Given the description of an element on the screen output the (x, y) to click on. 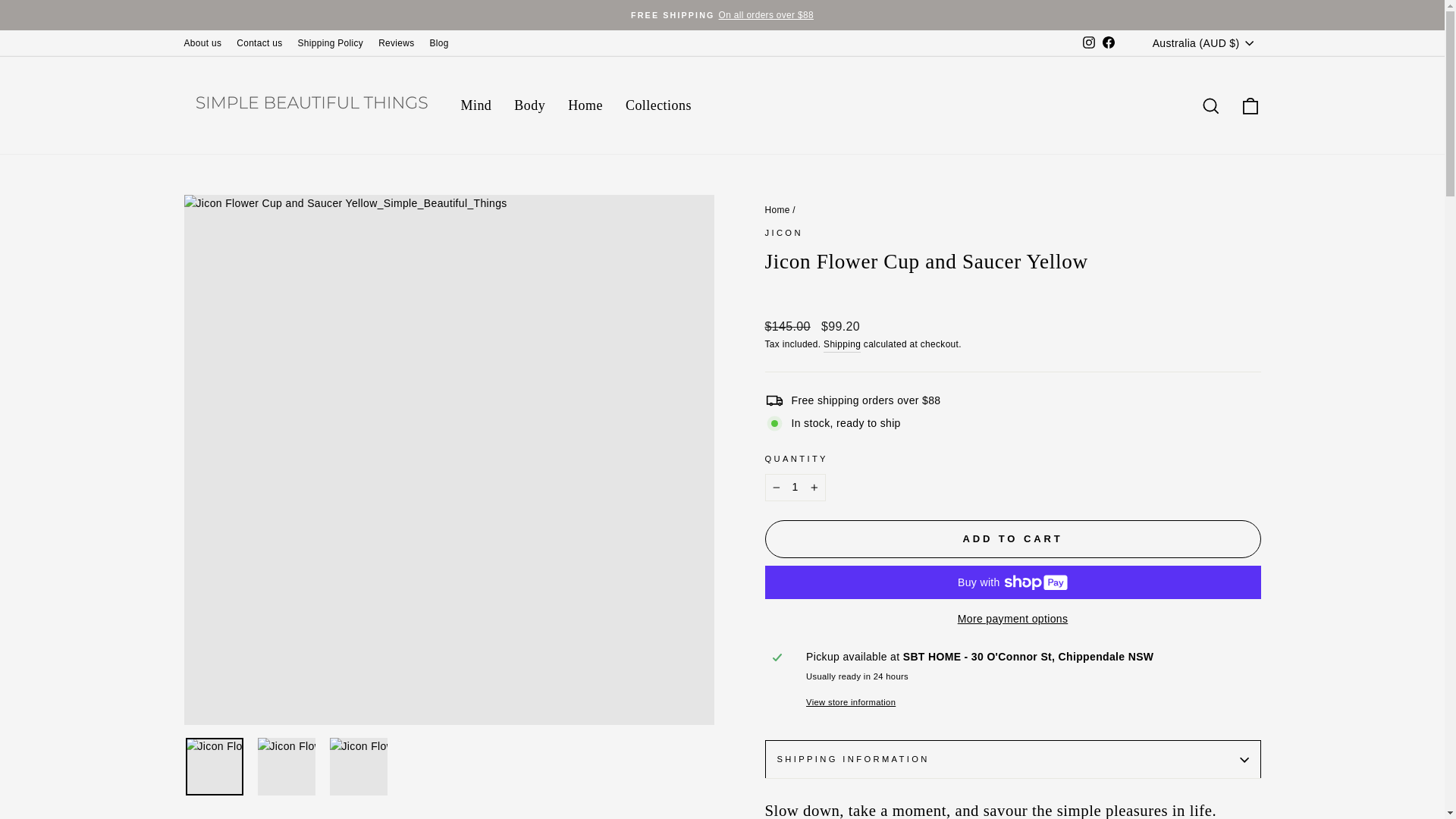
Jicon (783, 232)
Back to the frontpage (776, 209)
1 (794, 487)
